Given the description of an element on the screen output the (x, y) to click on. 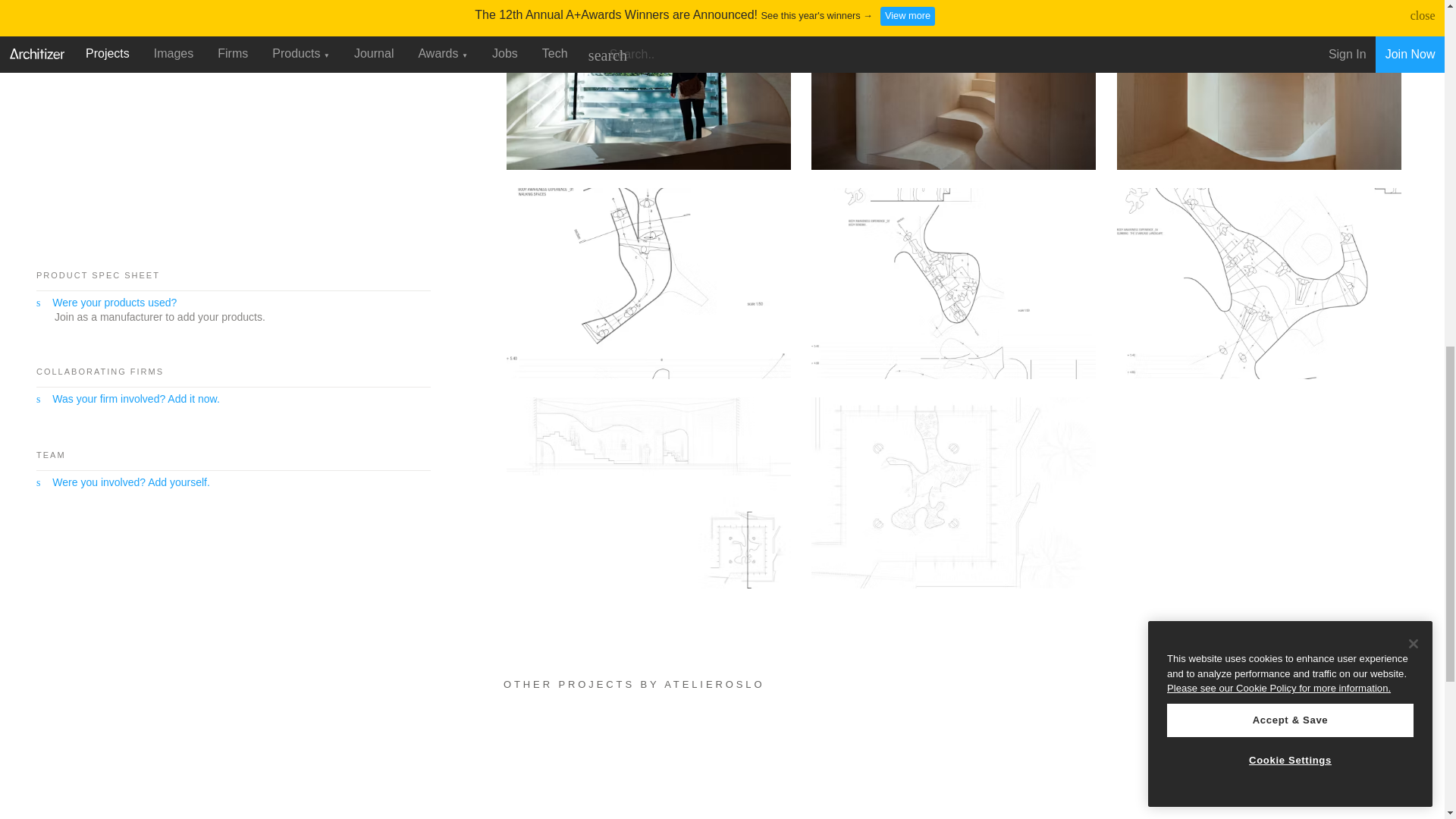
3rd party ad content (131, 146)
3rd party ad content (149, 624)
